Given the description of an element on the screen output the (x, y) to click on. 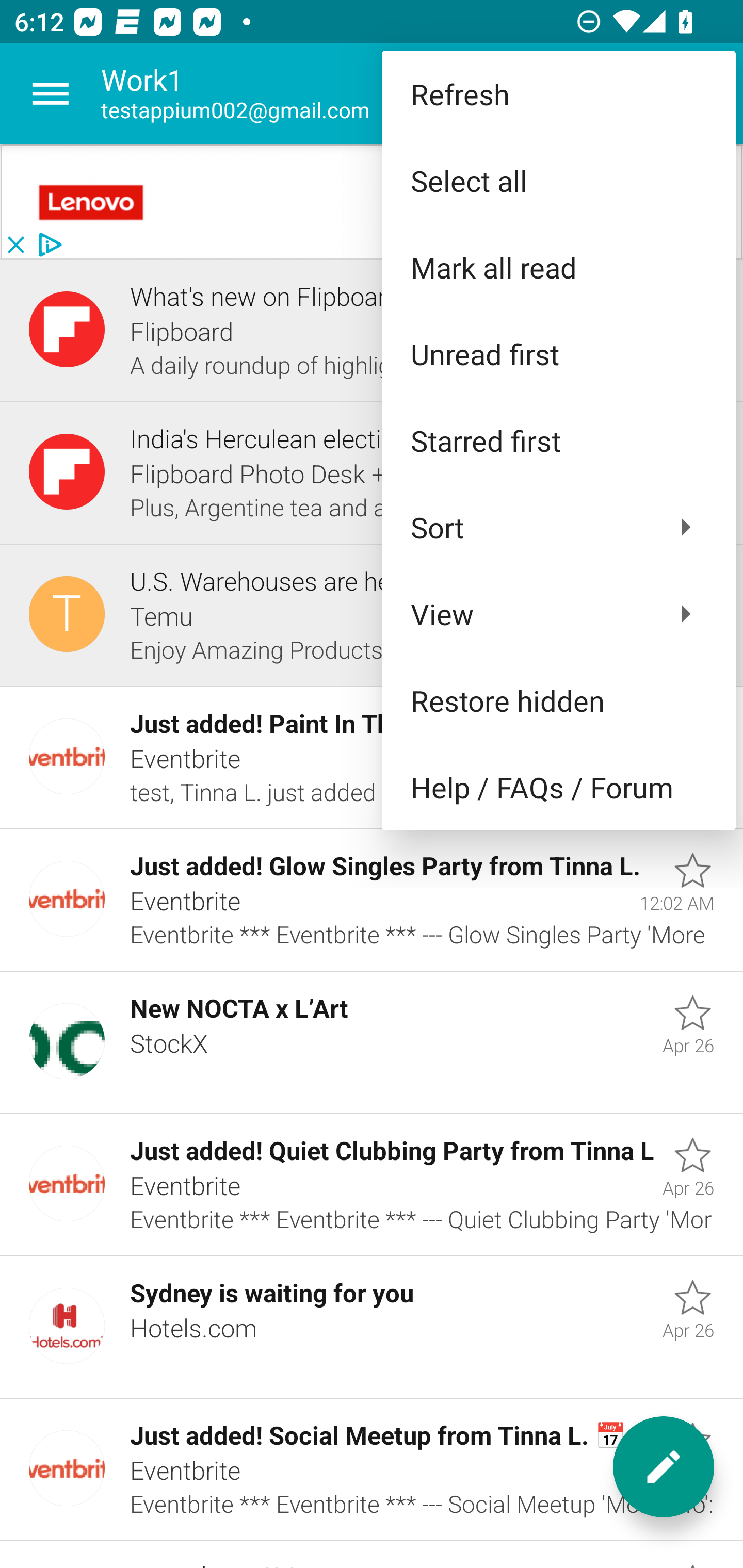
Refresh (558, 93)
Select all (558, 180)
Mark all read (558, 267)
Unread first (558, 353)
Starred first (558, 440)
Sort (558, 527)
View (558, 613)
Restore hidden (558, 699)
Help / FAQs / Forum (558, 787)
